Given the description of an element on the screen output the (x, y) to click on. 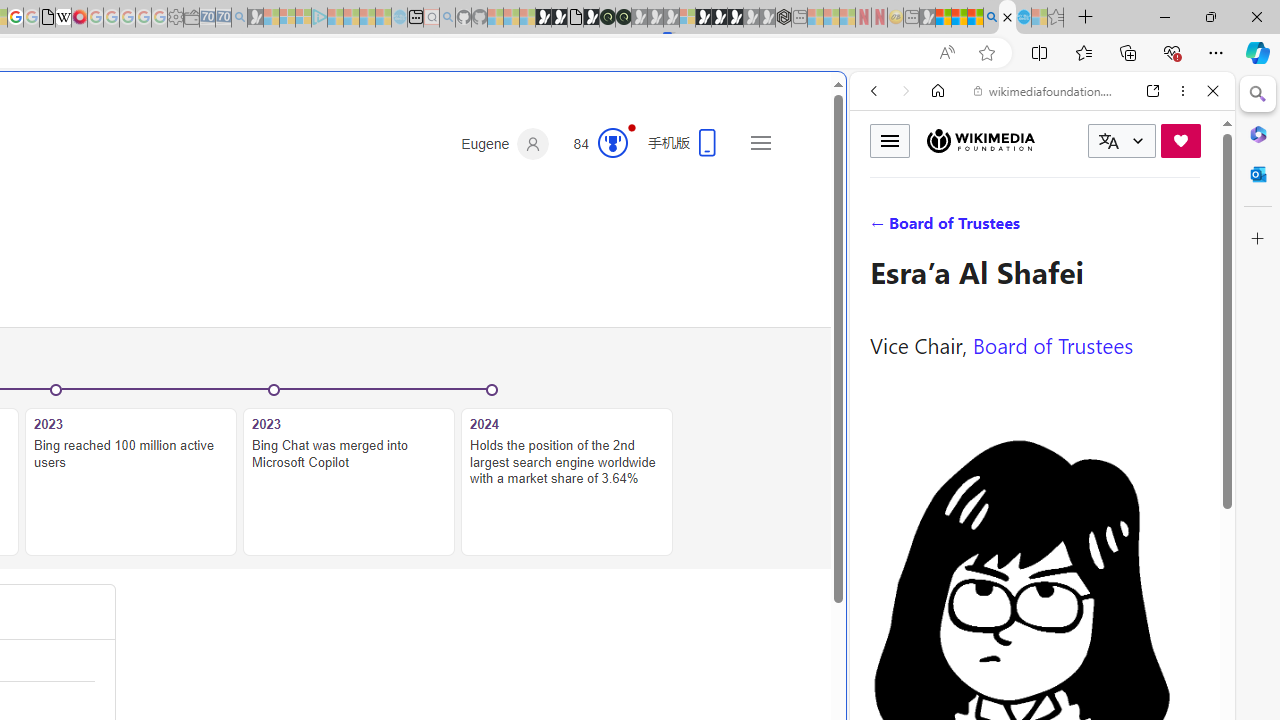
2023 Bing Chat was merged into Microsoft Copilot (349, 481)
Search Filter, VIDEOS (1006, 228)
MediaWiki (79, 17)
This site scope (936, 180)
Close split screen (844, 102)
github - Search - Sleeping (447, 17)
